Given the description of an element on the screen output the (x, y) to click on. 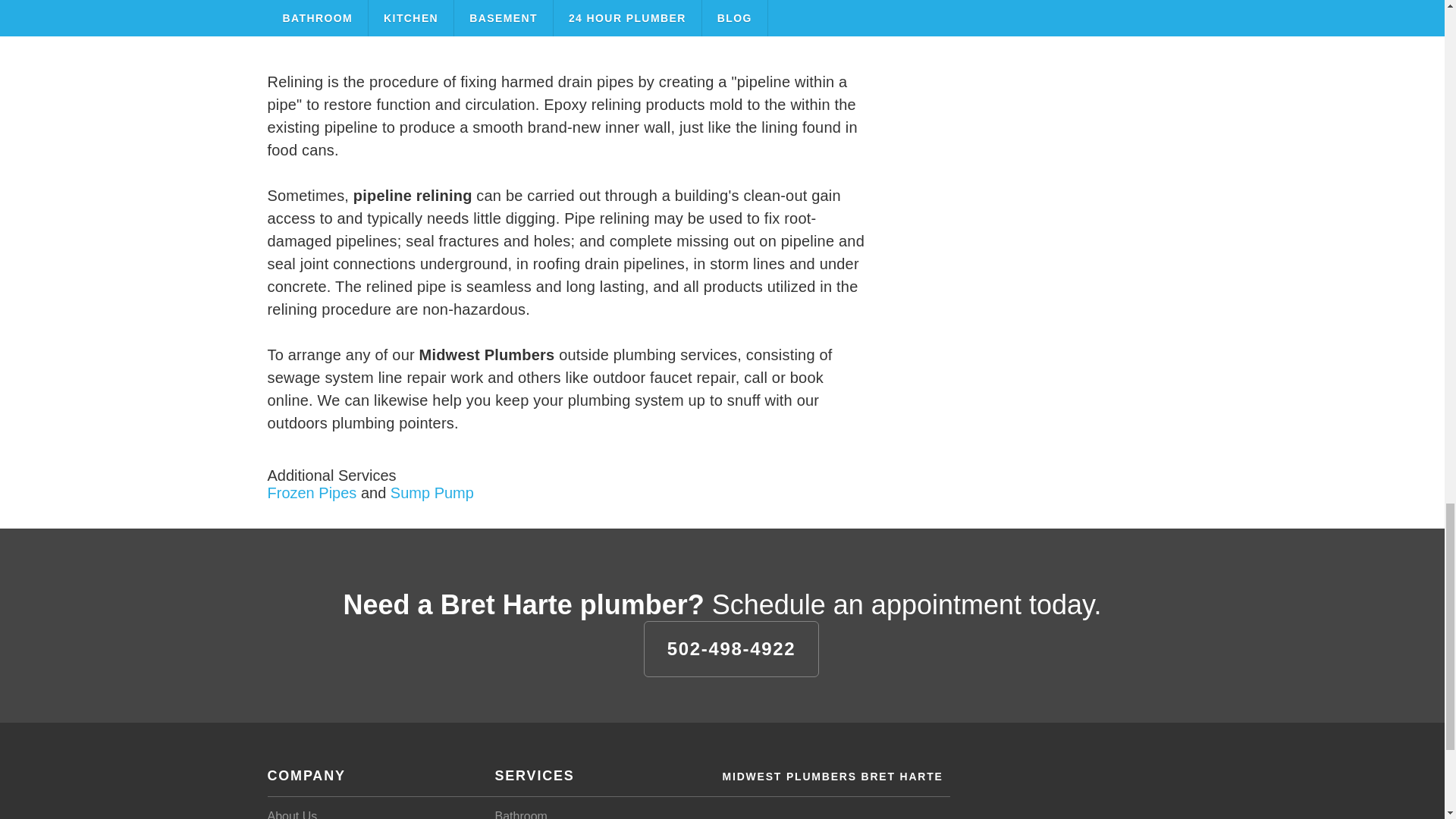
502-498-4922 (731, 647)
Bathroom (521, 814)
Sump Pump (432, 492)
Frozen Pipes (311, 492)
About Us (291, 814)
